Given the description of an element on the screen output the (x, y) to click on. 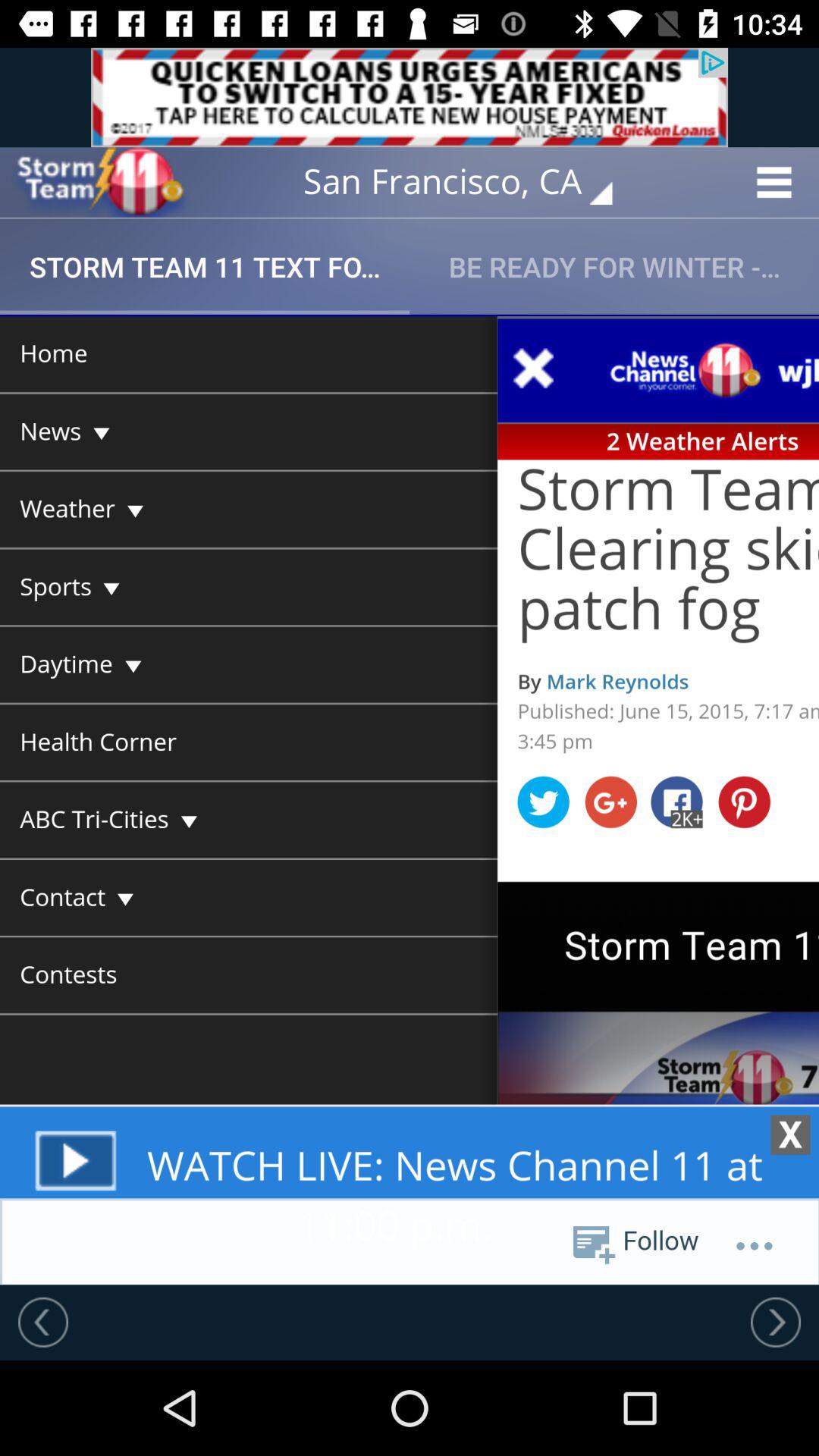
go to next screen (775, 1322)
